Given the description of an element on the screen output the (x, y) to click on. 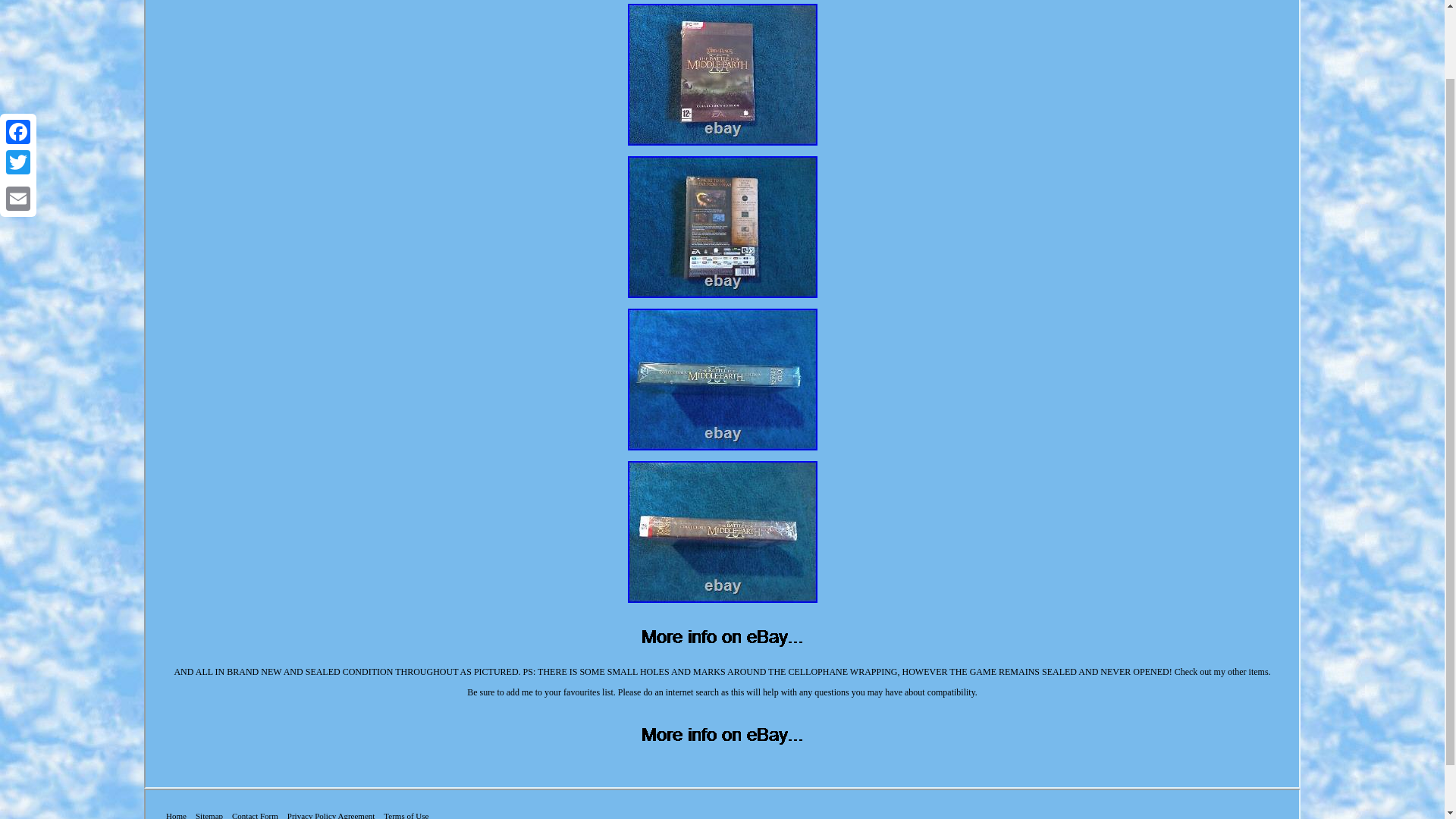
Email (17, 117)
Facebook (17, 51)
Twitter (17, 81)
